Given the description of an element on the screen output the (x, y) to click on. 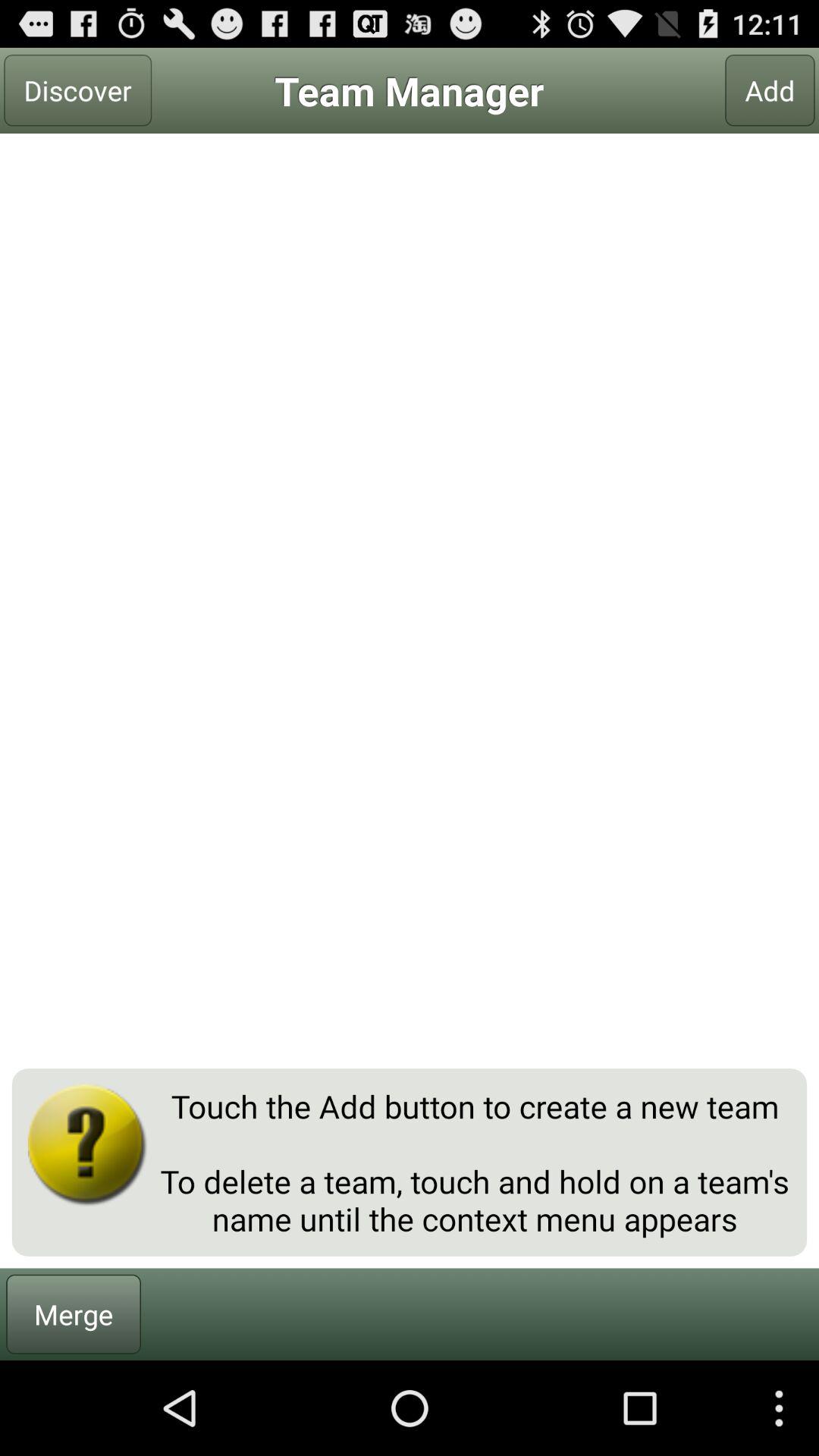
turn on the discover icon (77, 90)
